Given the description of an element on the screen output the (x, y) to click on. 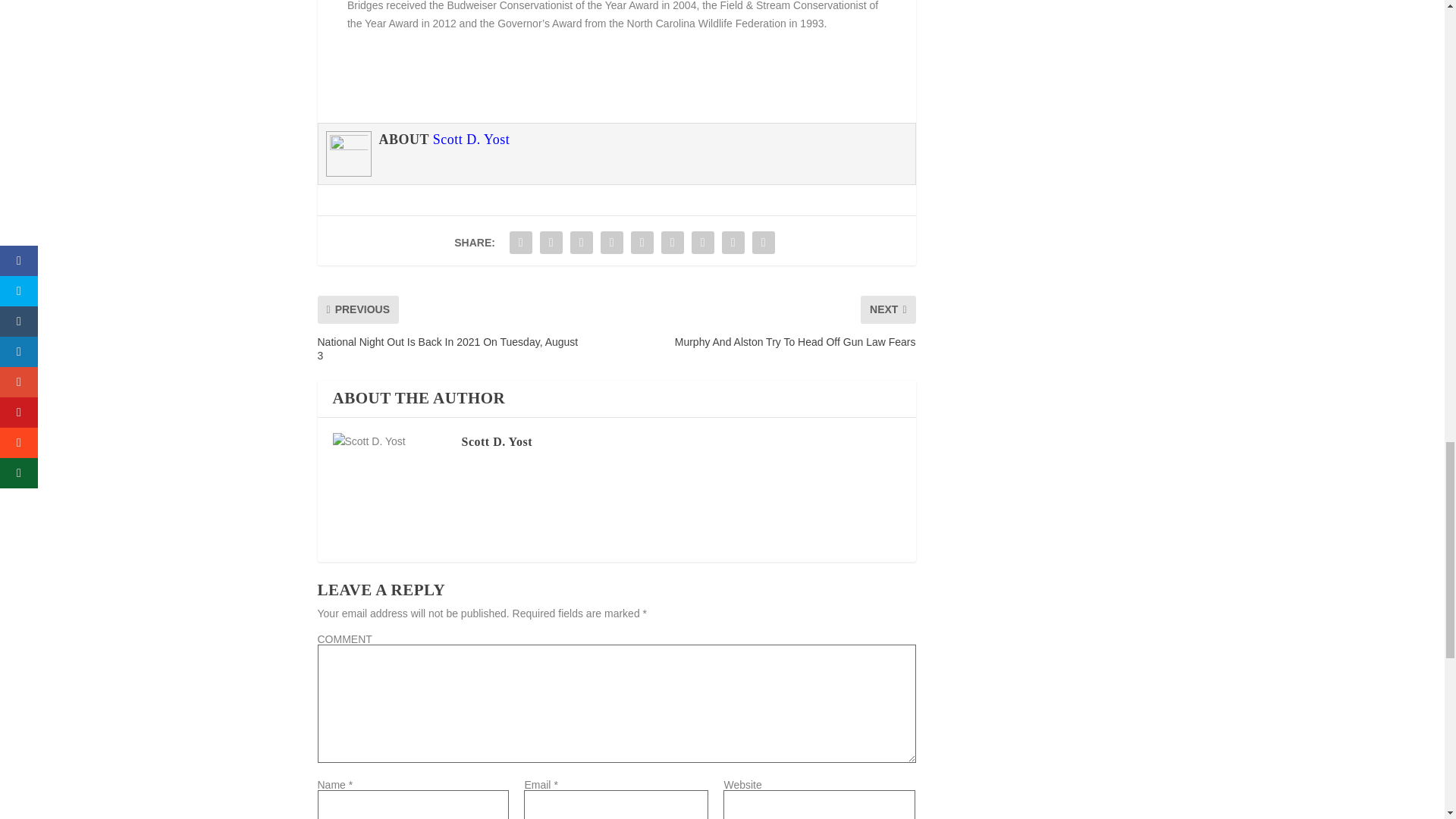
Scott D. Yost (471, 139)
View all posts by Scott D. Yost (496, 440)
